Given the description of an element on the screen output the (x, y) to click on. 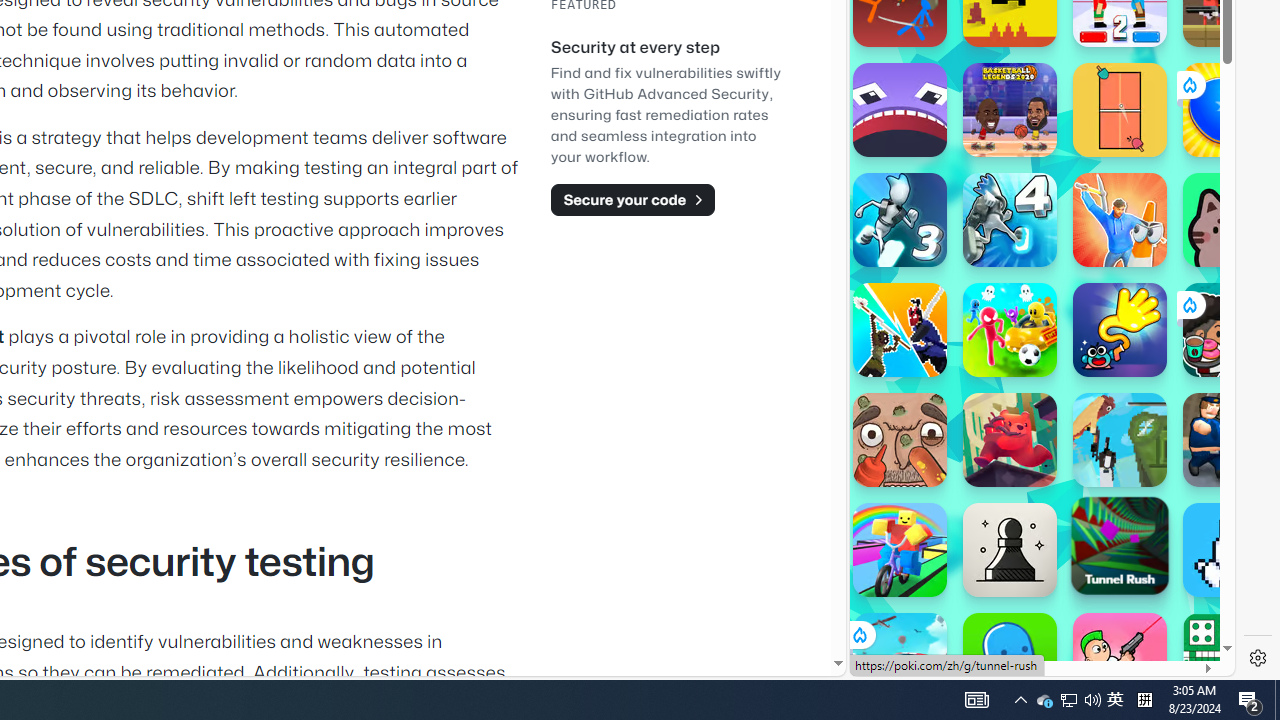
Classic Chess (1009, 549)
Last Warriors (899, 329)
Goober World Goober World (1009, 659)
Basketball Legends 2020 Basketball Legends 2020 (1009, 109)
Kate's Cooking Party 2 (1229, 329)
Simply Prop Hunt (1119, 219)
Bullet Bros (1119, 659)
Gobble Gobble (899, 109)
Escape From School Escape From School (1229, 439)
G-Switch 3 (899, 219)
Rainbow Obby Rainbow Obby (899, 549)
Kate's Cooking Party 2 Kate's Cooking Party 2 (1229, 329)
Bullet Bros Bullet Bros (1119, 659)
poki.com (1092, 338)
